Given the description of an element on the screen output the (x, y) to click on. 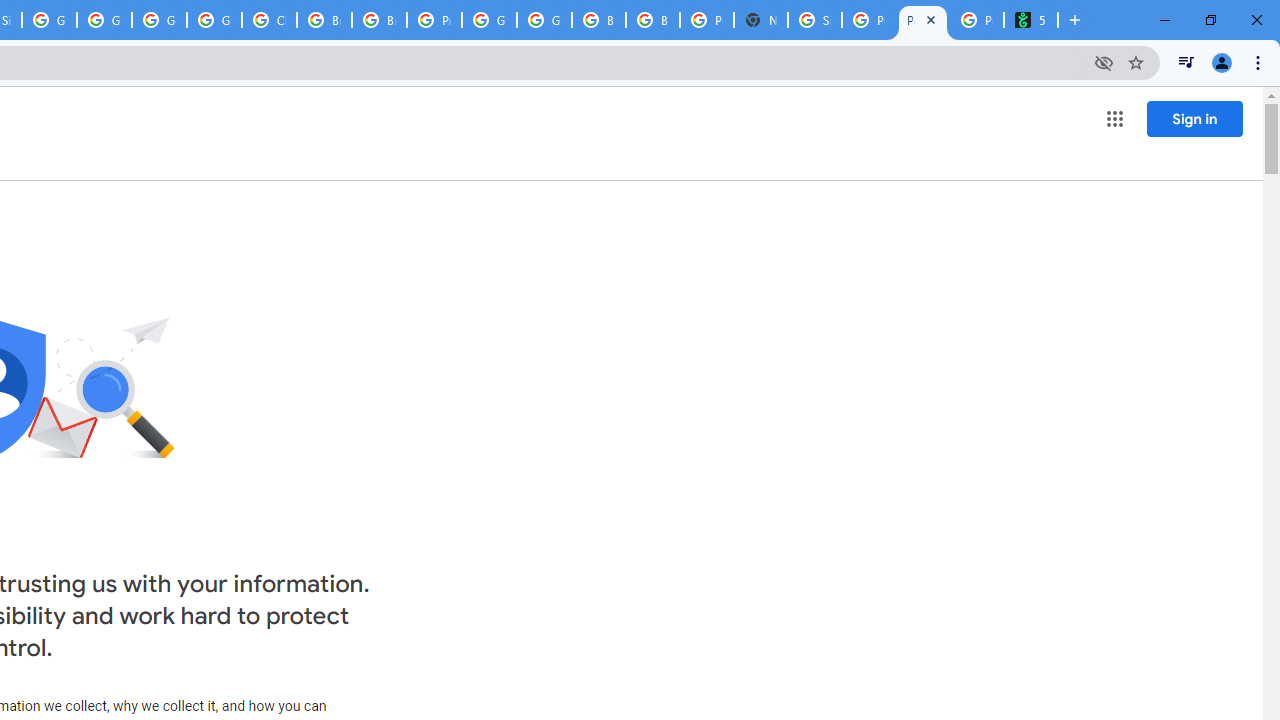
New Tab (760, 20)
